Given the description of an element on the screen output the (x, y) to click on. 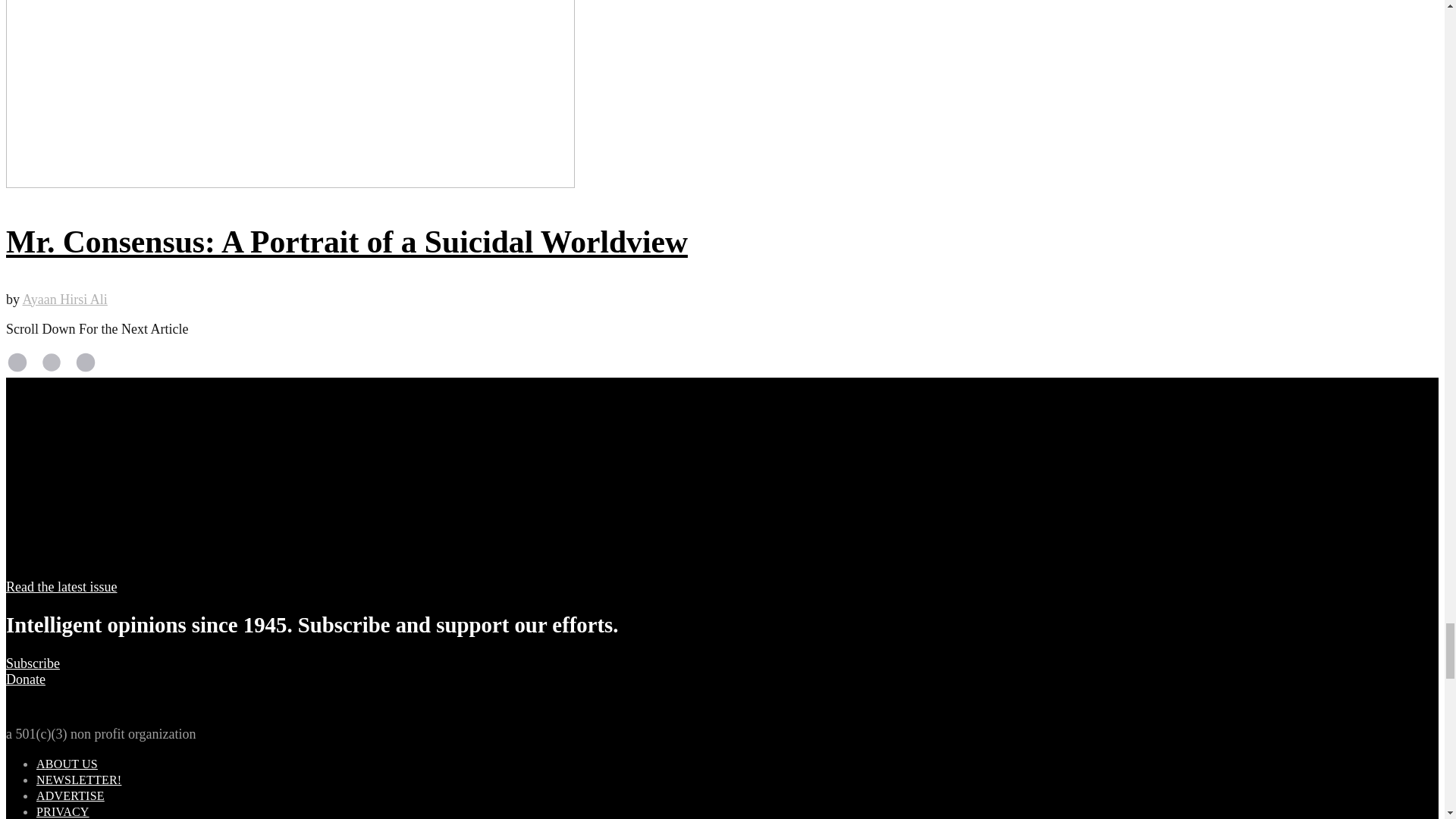
Privacy Policy (62, 811)
Advertise (70, 795)
